Given the description of an element on the screen output the (x, y) to click on. 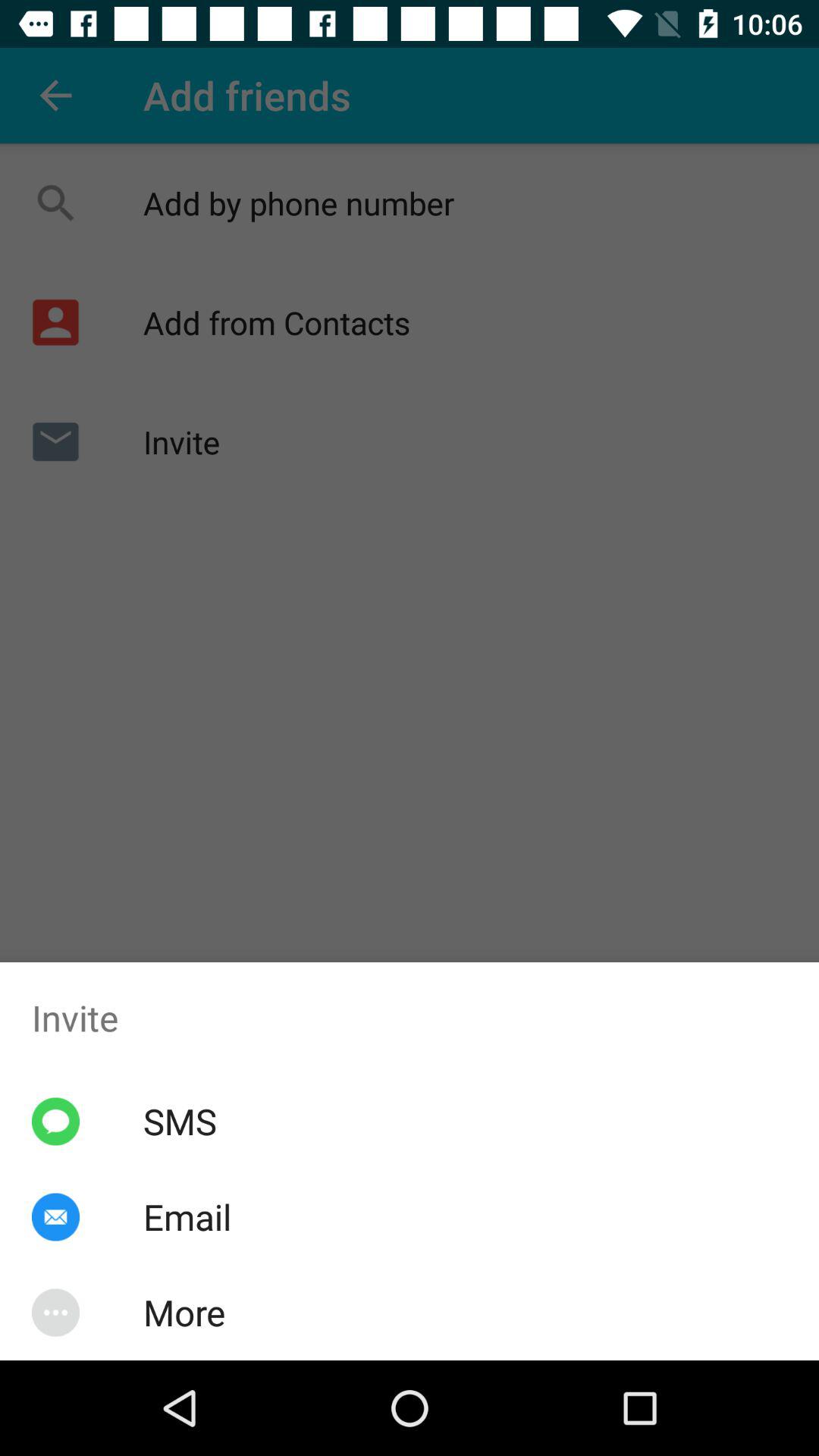
select the item at the center (409, 680)
